Given the description of an element on the screen output the (x, y) to click on. 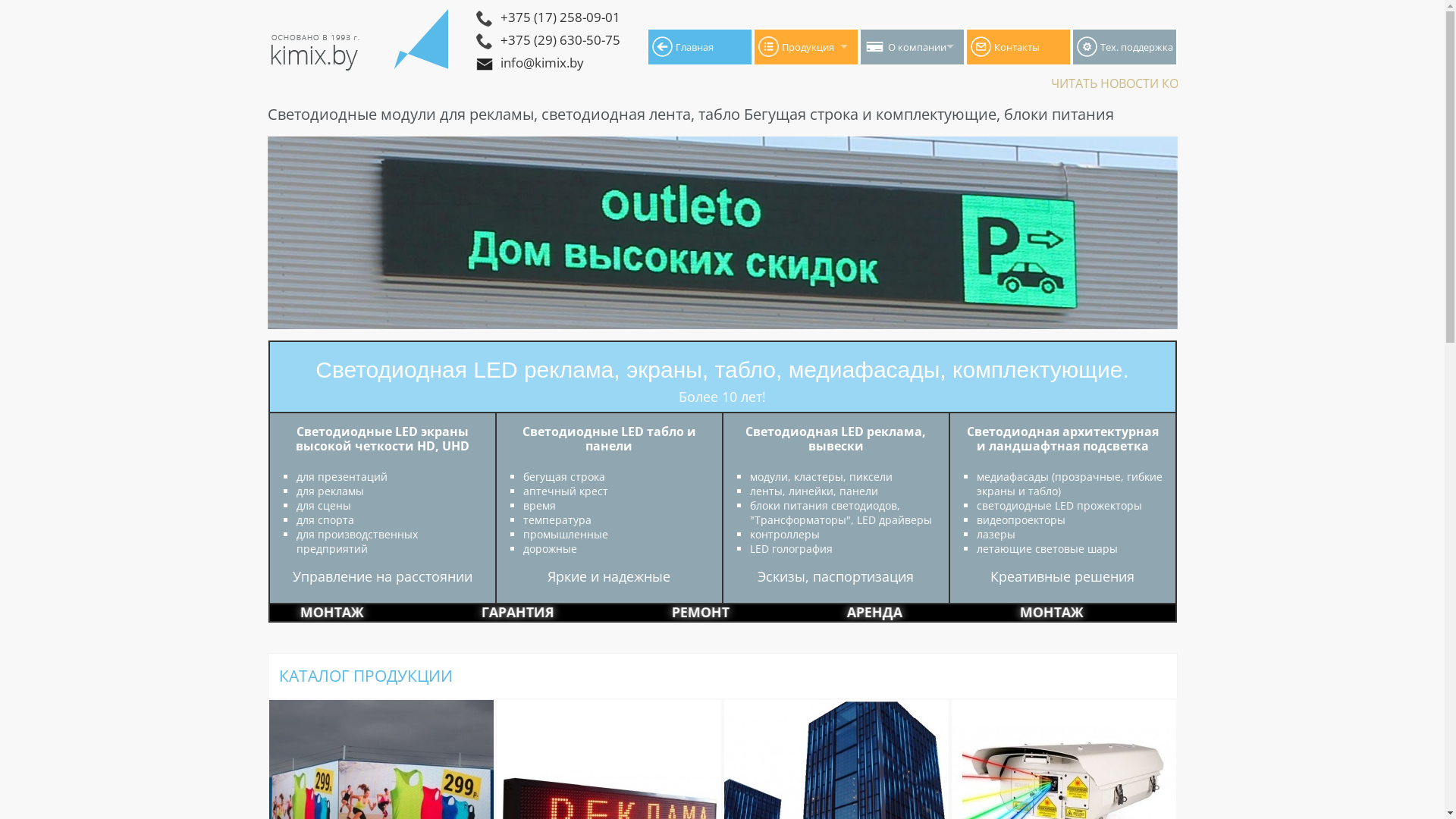
info@kimix.by Element type: text (598, 64)
+375 (17) 258-09-01 Element type: text (598, 18)
+375 (29) 630-50-75 Element type: text (598, 41)
